Given the description of an element on the screen output the (x, y) to click on. 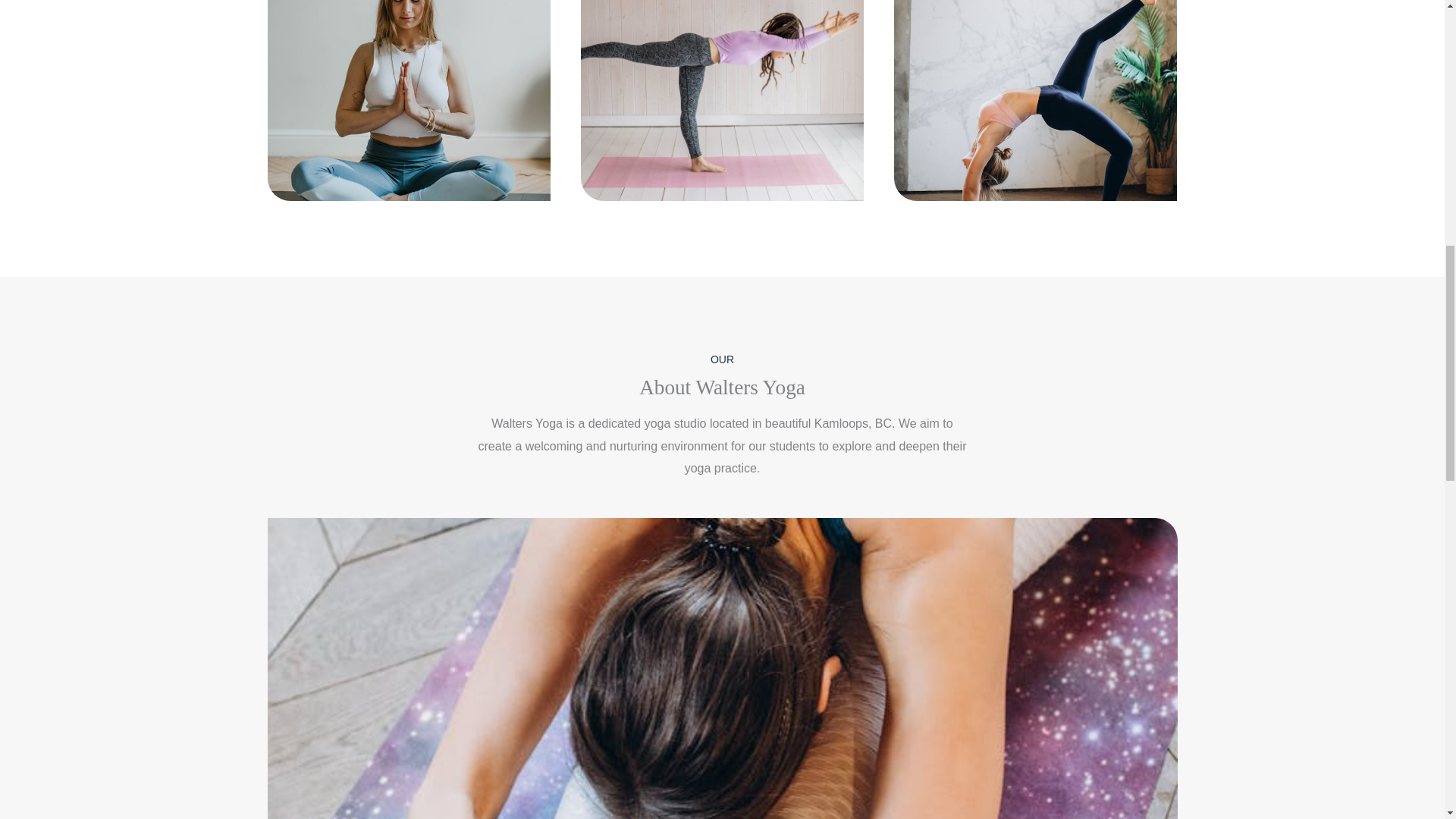
service-06 (1034, 100)
service-04 (721, 100)
service-02 (408, 100)
